Given the description of an element on the screen output the (x, y) to click on. 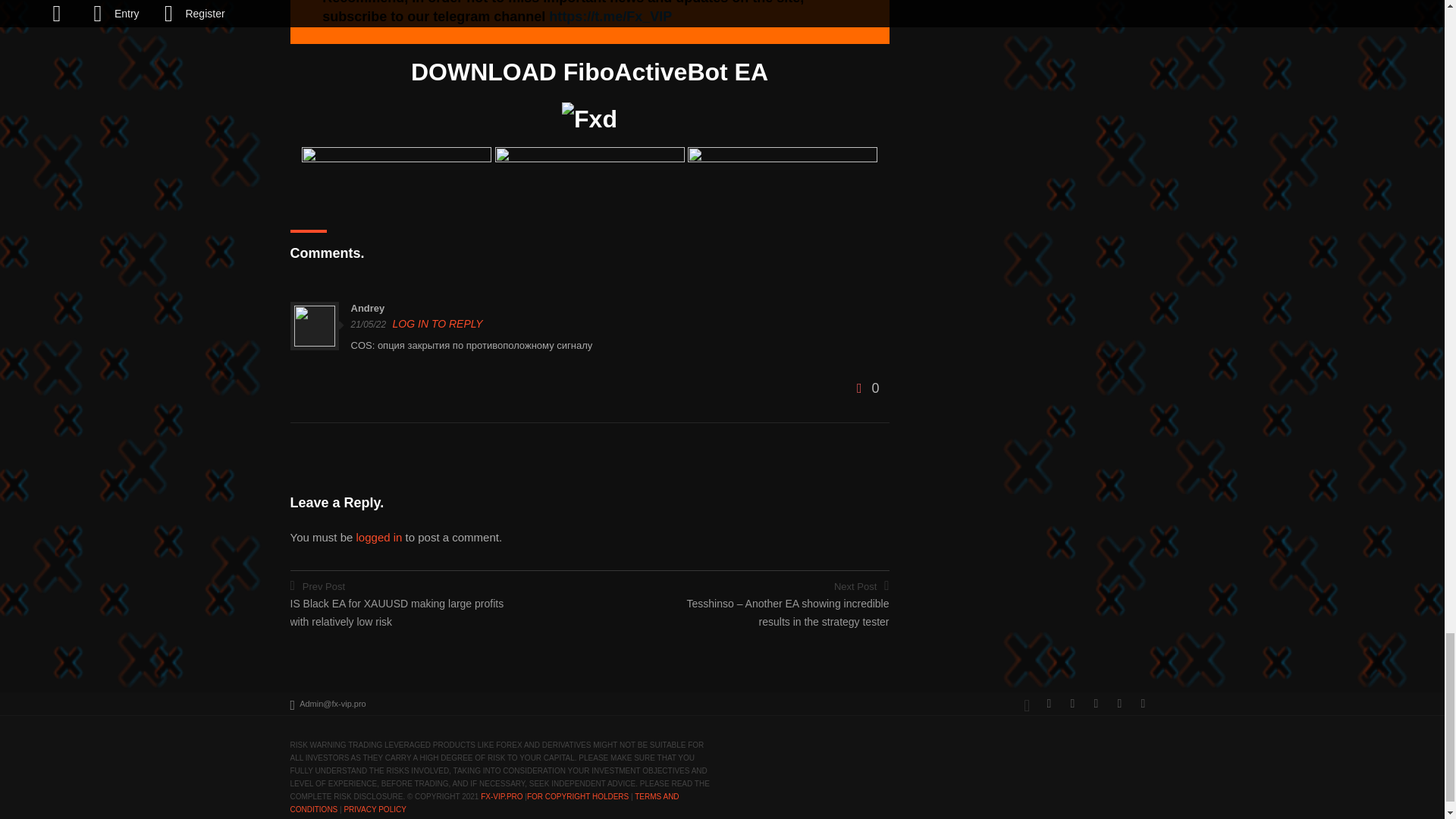
LOG IN TO REPLY (438, 323)
logged in (379, 536)
